Given the description of an element on the screen output the (x, y) to click on. 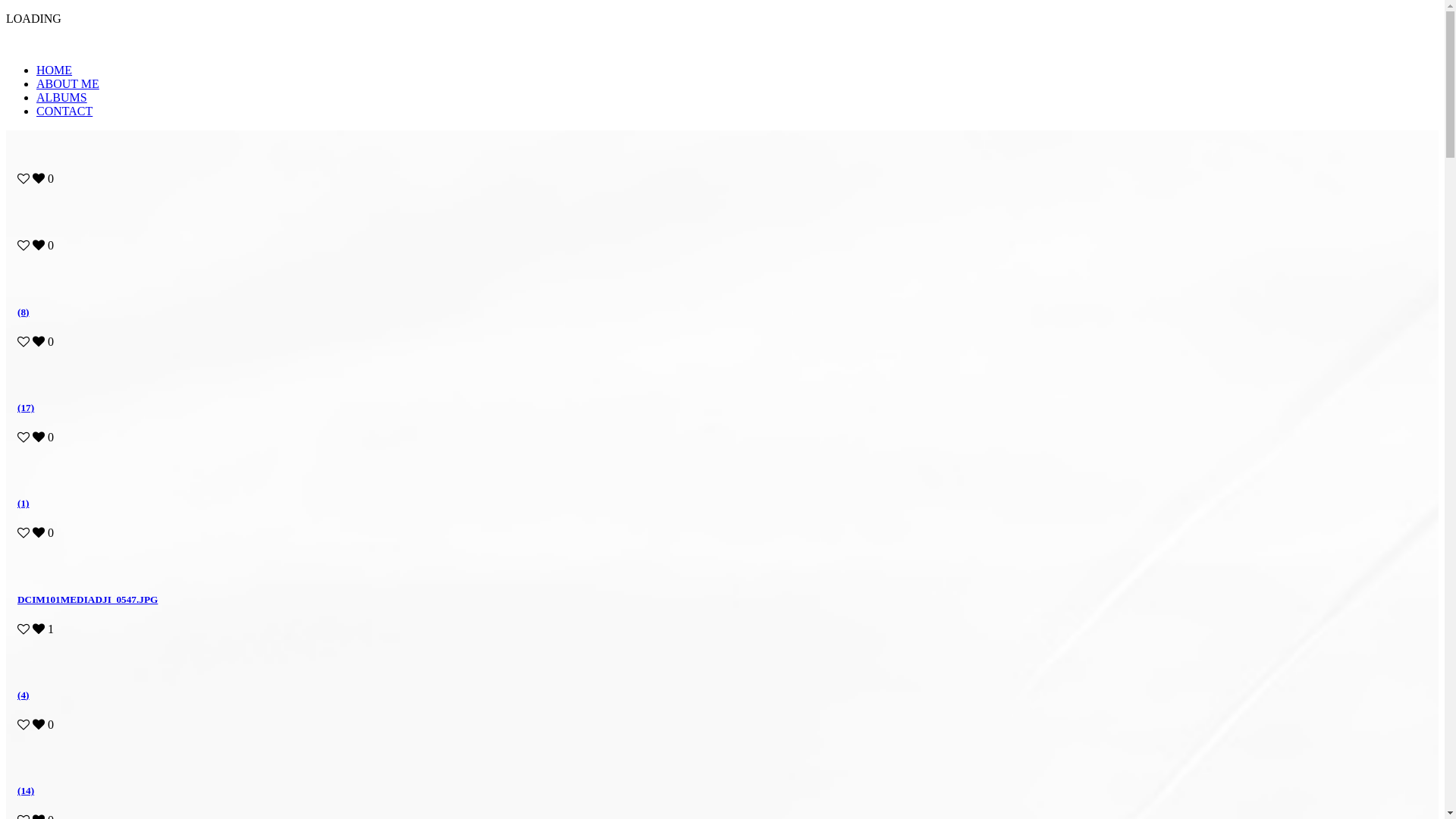
ABOUT ME Element type: text (67, 83)
CONTACT Element type: text (64, 110)
ALBUMS Element type: text (61, 97)
HOME Element type: text (54, 69)
(8) Element type: text (722, 327)
DCIM101MEDIADJI_0547.JPG Element type: text (722, 614)
(1) Element type: text (722, 518)
(17) Element type: text (722, 422)
(4) Element type: text (722, 710)
